Given the description of an element on the screen output the (x, y) to click on. 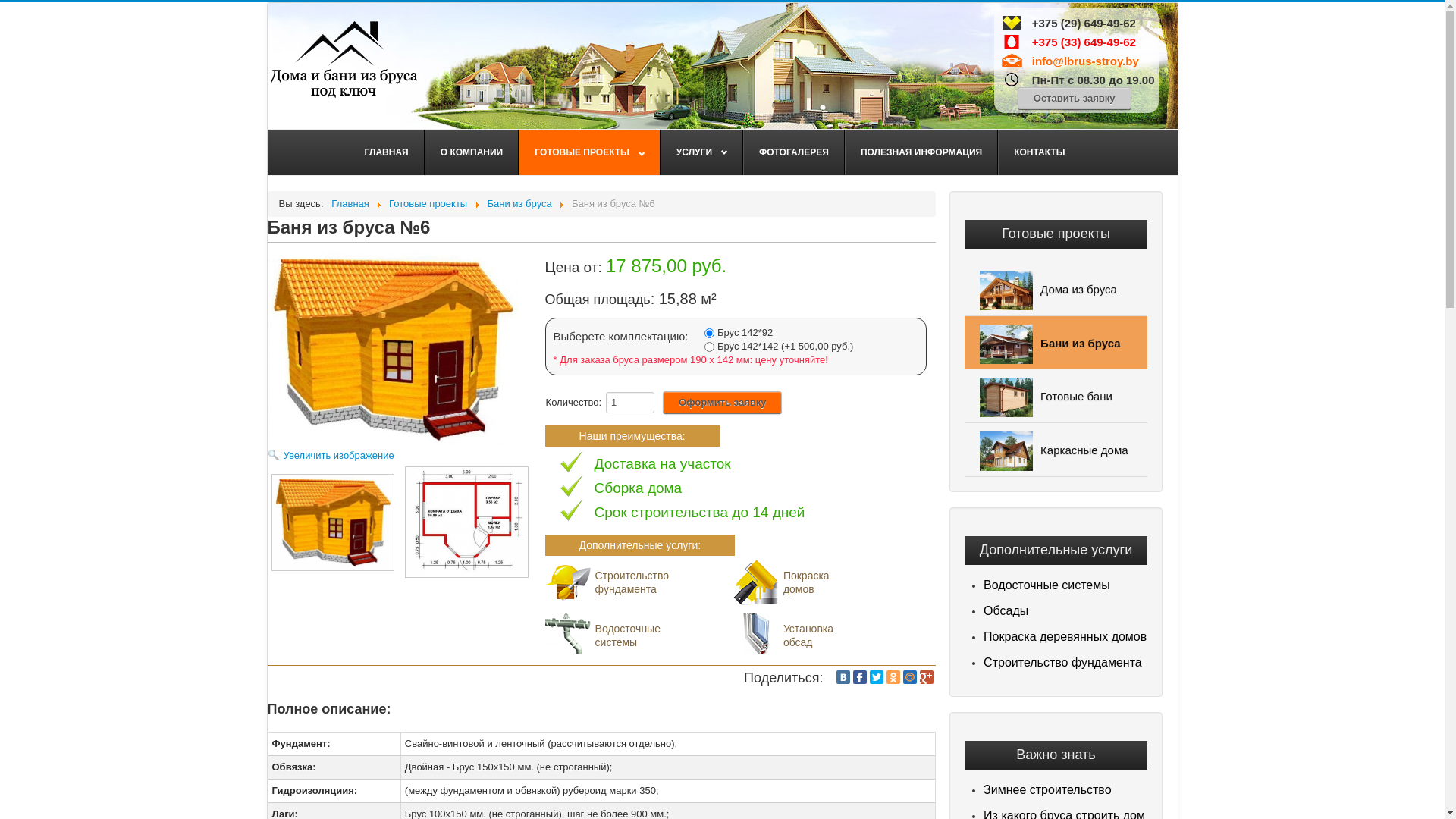
Twitter Element type: hover (876, 677)
2 Element type: text (709, 346)
1 Element type: text (709, 333)
Google Plus Element type: hover (926, 677)
Facebook Element type: hover (859, 677)
